Given the description of an element on the screen output the (x, y) to click on. 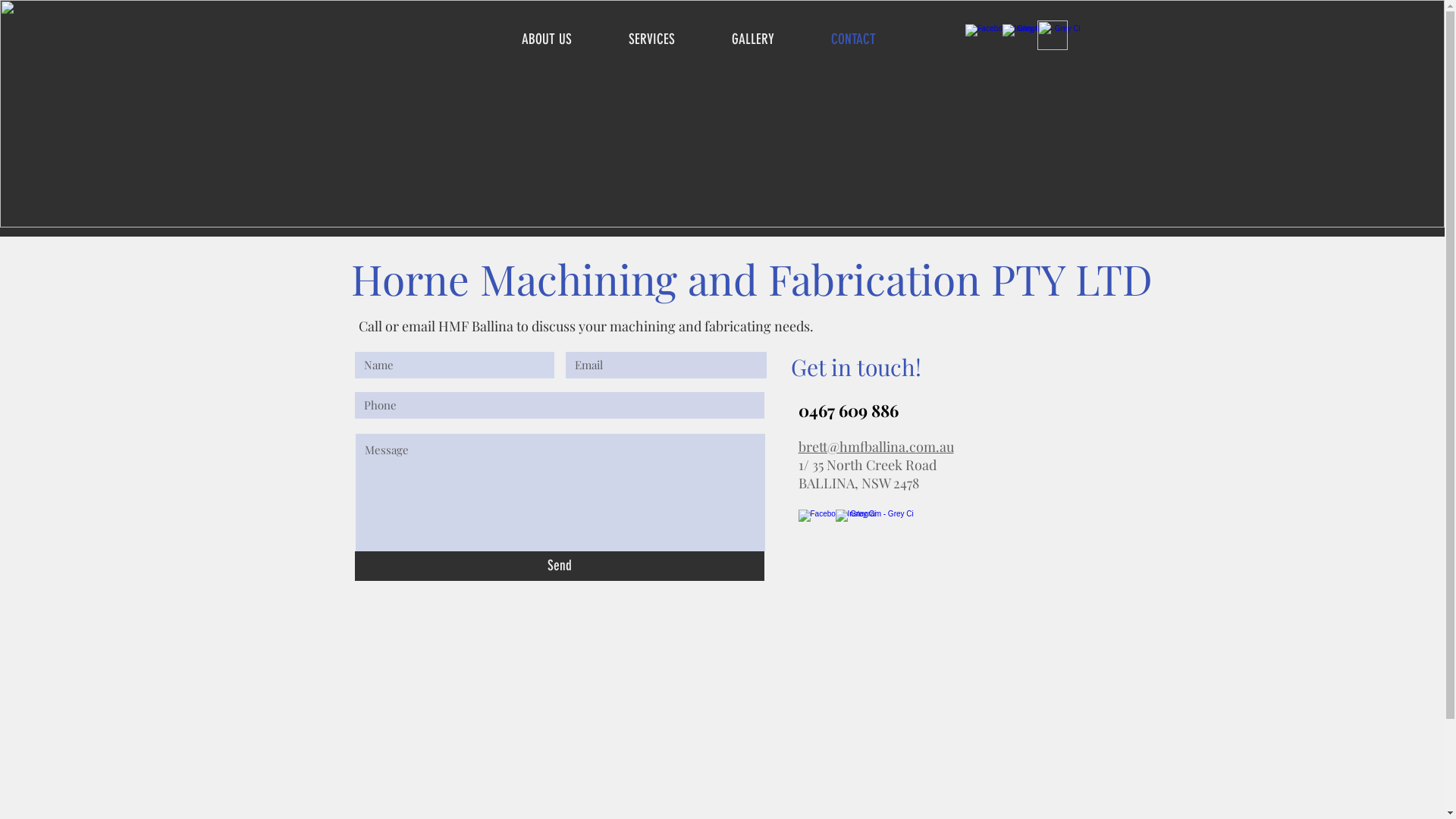
brett@hmfballina.com.au Element type: text (875, 446)
SERVICES Element type: text (668, 39)
CONTACT Element type: text (869, 39)
Send Element type: text (559, 565)
GALLERY Element type: text (769, 39)
ABOUT US Element type: text (562, 39)
